Given the description of an element on the screen output the (x, y) to click on. 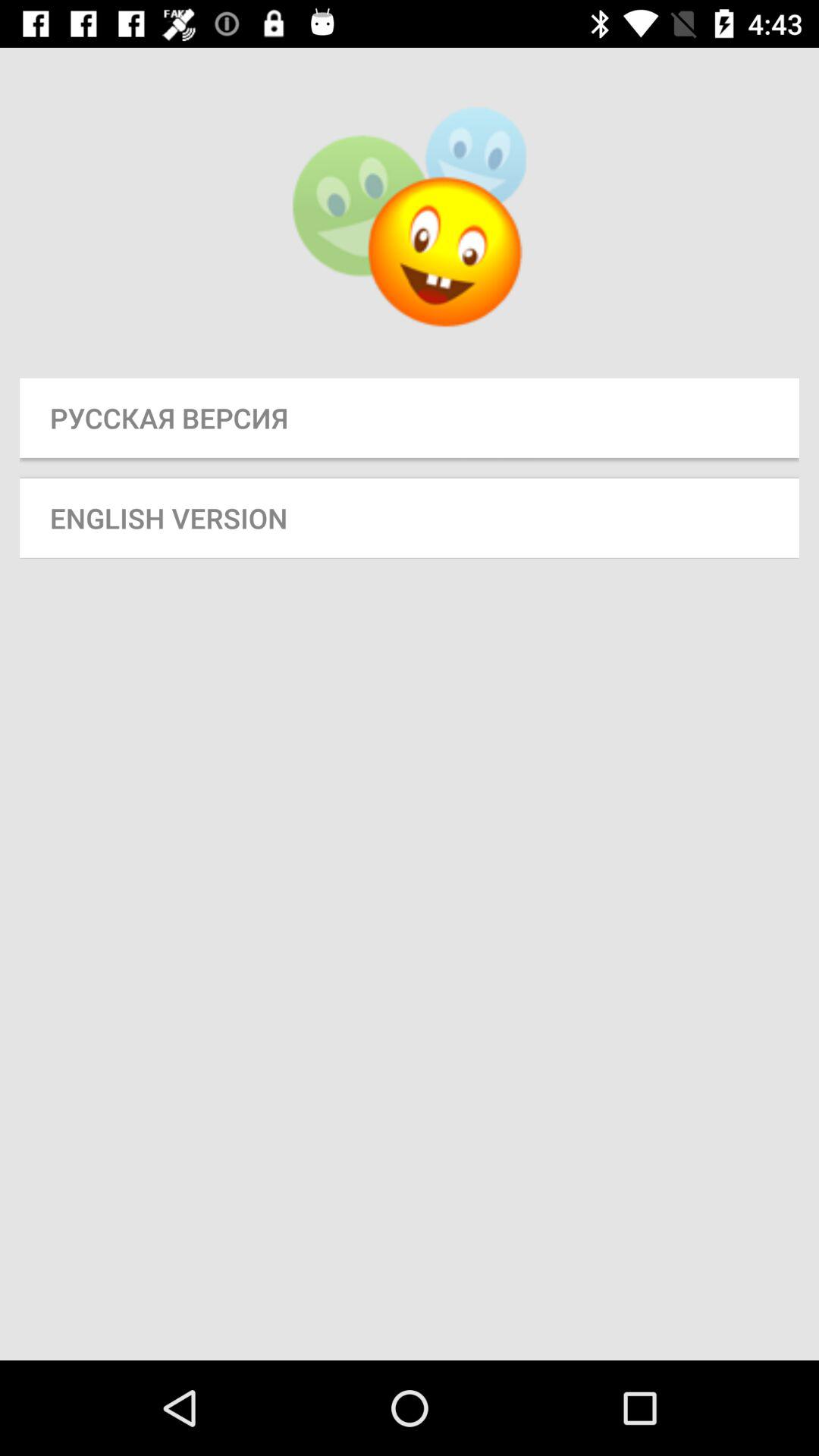
select the english version icon (409, 517)
